Given the description of an element on the screen output the (x, y) to click on. 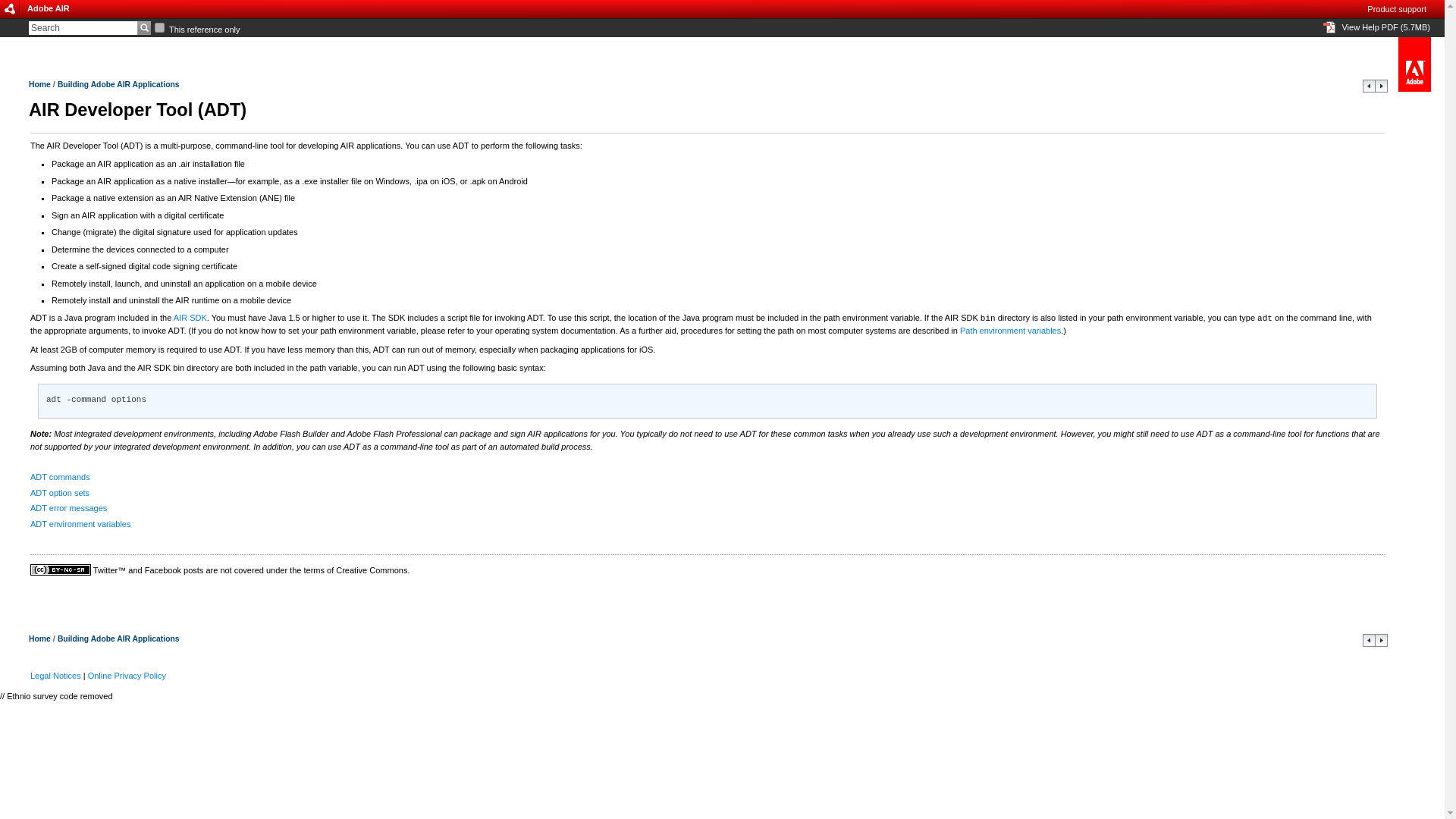
ADT commands (60, 476)
Legal Notices (55, 675)
View Help PDF (1384, 26)
Online Privacy Policy (126, 675)
Search (82, 28)
ADT option sets (59, 492)
Building Adobe AIR Applications (118, 83)
ADT commands (1380, 643)
Home (39, 637)
ADT commands (1380, 89)
